Given the description of an element on the screen output the (x, y) to click on. 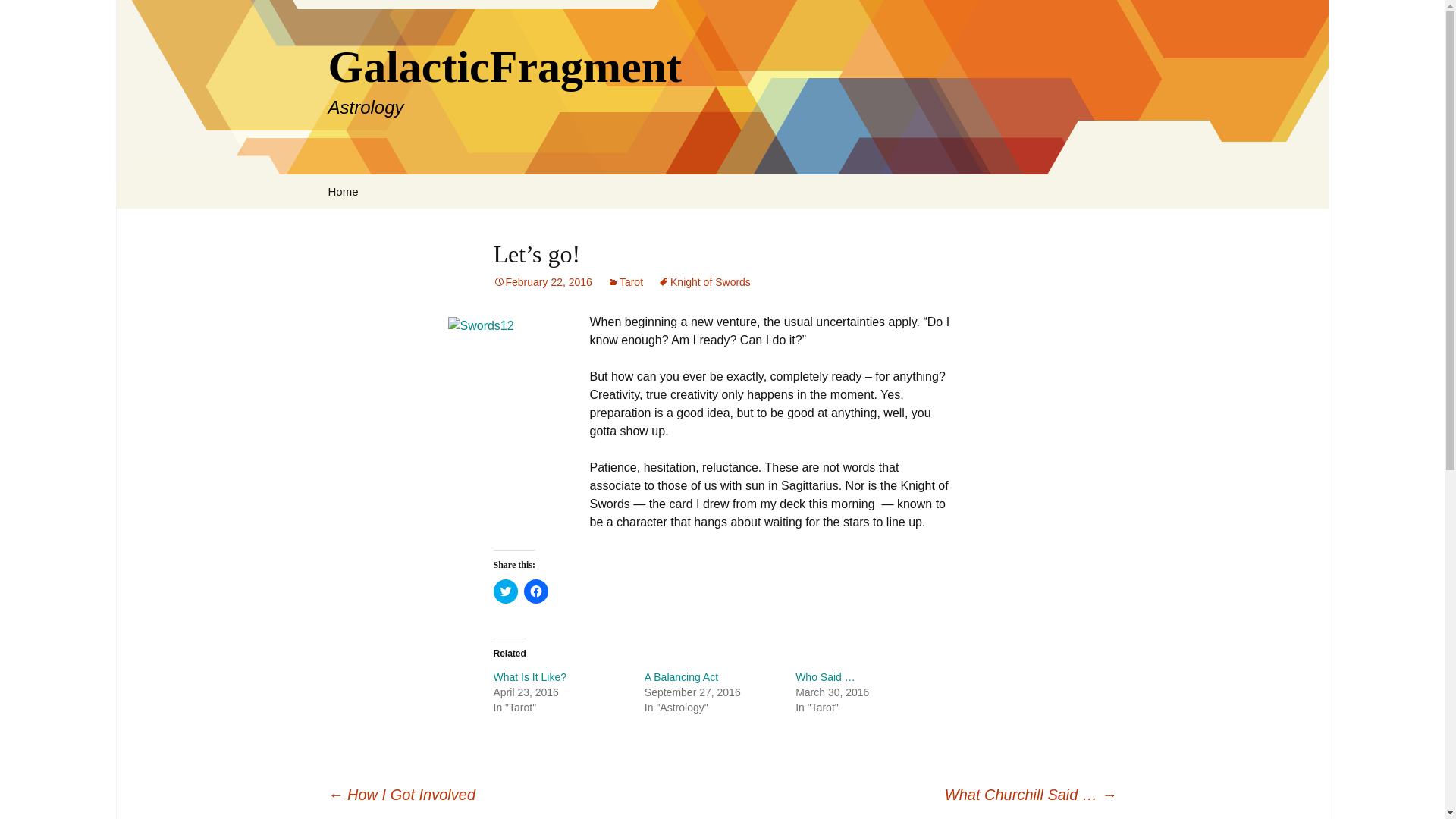
Tarot (625, 282)
Knight of Swords (704, 282)
A Balancing Act (681, 676)
Click to share on Facebook (534, 591)
A Balancing Act (681, 676)
Search (18, 15)
February 22, 2016 (529, 676)
Home (542, 282)
What Is It Like? (342, 191)
Click to share on Twitter (529, 676)
Skip to content (504, 591)
